Given the description of an element on the screen output the (x, y) to click on. 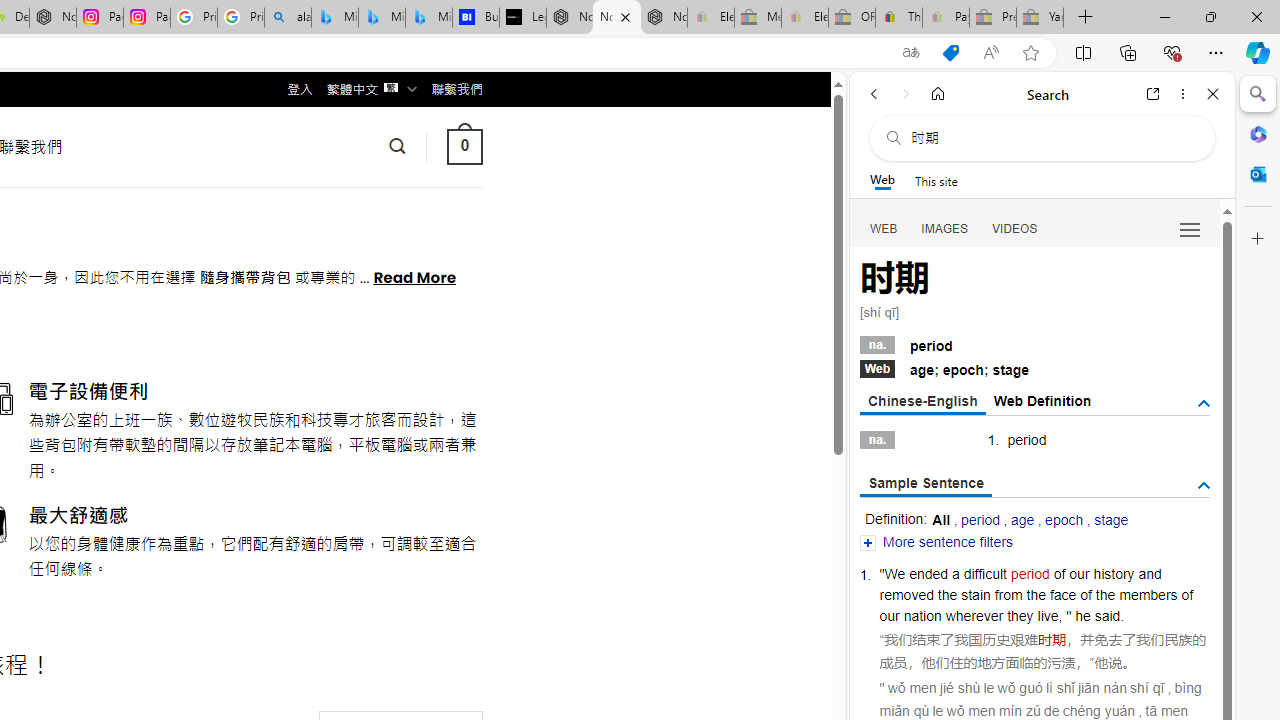
, (1060, 615)
stage (1111, 520)
na.period (1034, 343)
Customize (1258, 239)
Search Filter, WEB (884, 228)
WEB (884, 228)
our (1079, 573)
